Given the description of an element on the screen output the (x, y) to click on. 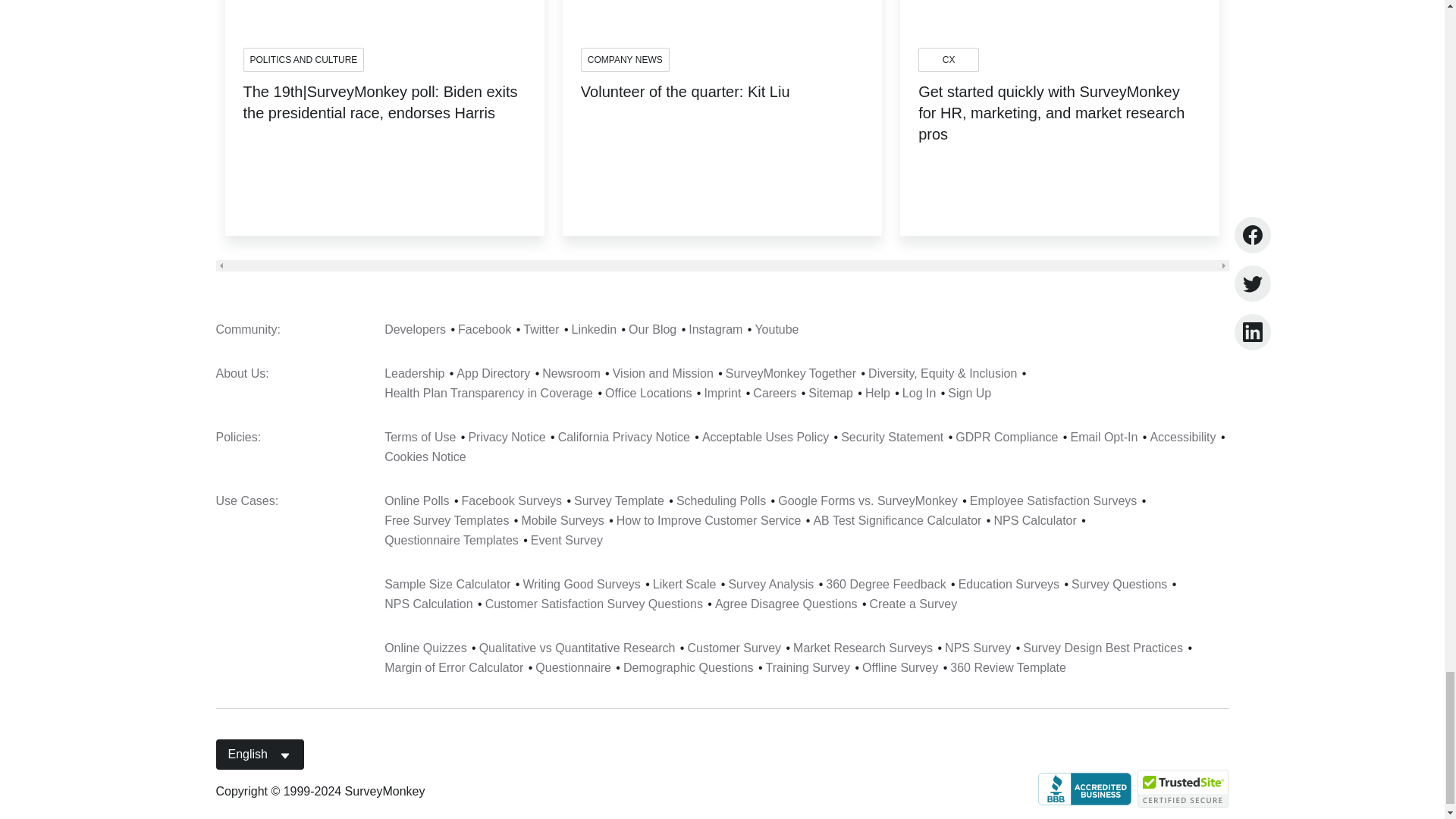
COMPANY NEWS (624, 59)
TrustedSite logo (1182, 788)
BBB credentials logo (1084, 787)
POLITICS AND CULTURE (303, 59)
Volunteer of the quarter: Kit Liu (685, 106)
Volunteer of the quarter: Kit Liu (685, 106)
